Given the description of an element on the screen output the (x, y) to click on. 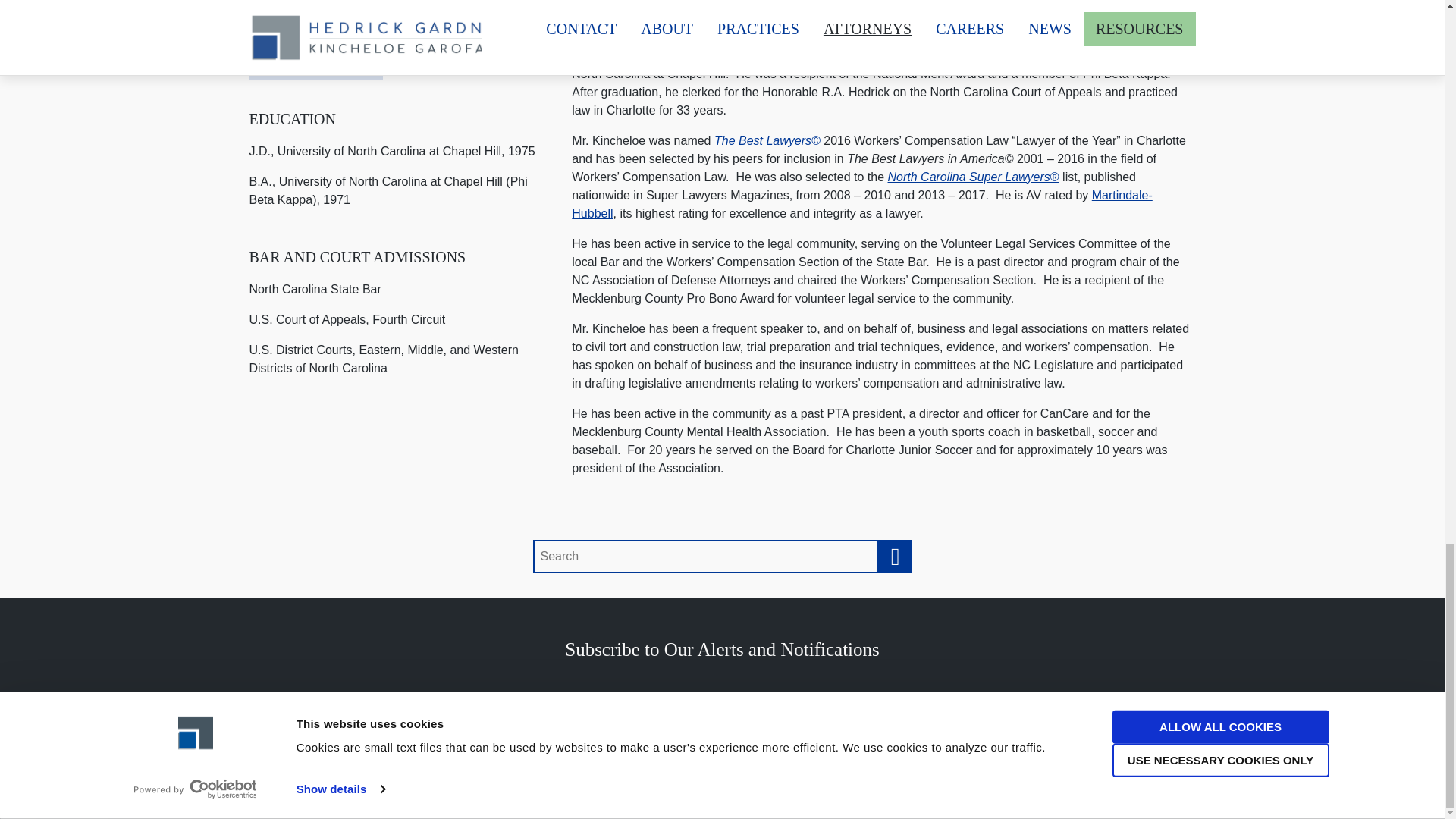
Email Subscription Page (721, 649)
Legal Marketing Agency (832, 730)
Attorney Web Design (635, 730)
SEO for Law Firms (742, 730)
